Given the description of an element on the screen output the (x, y) to click on. 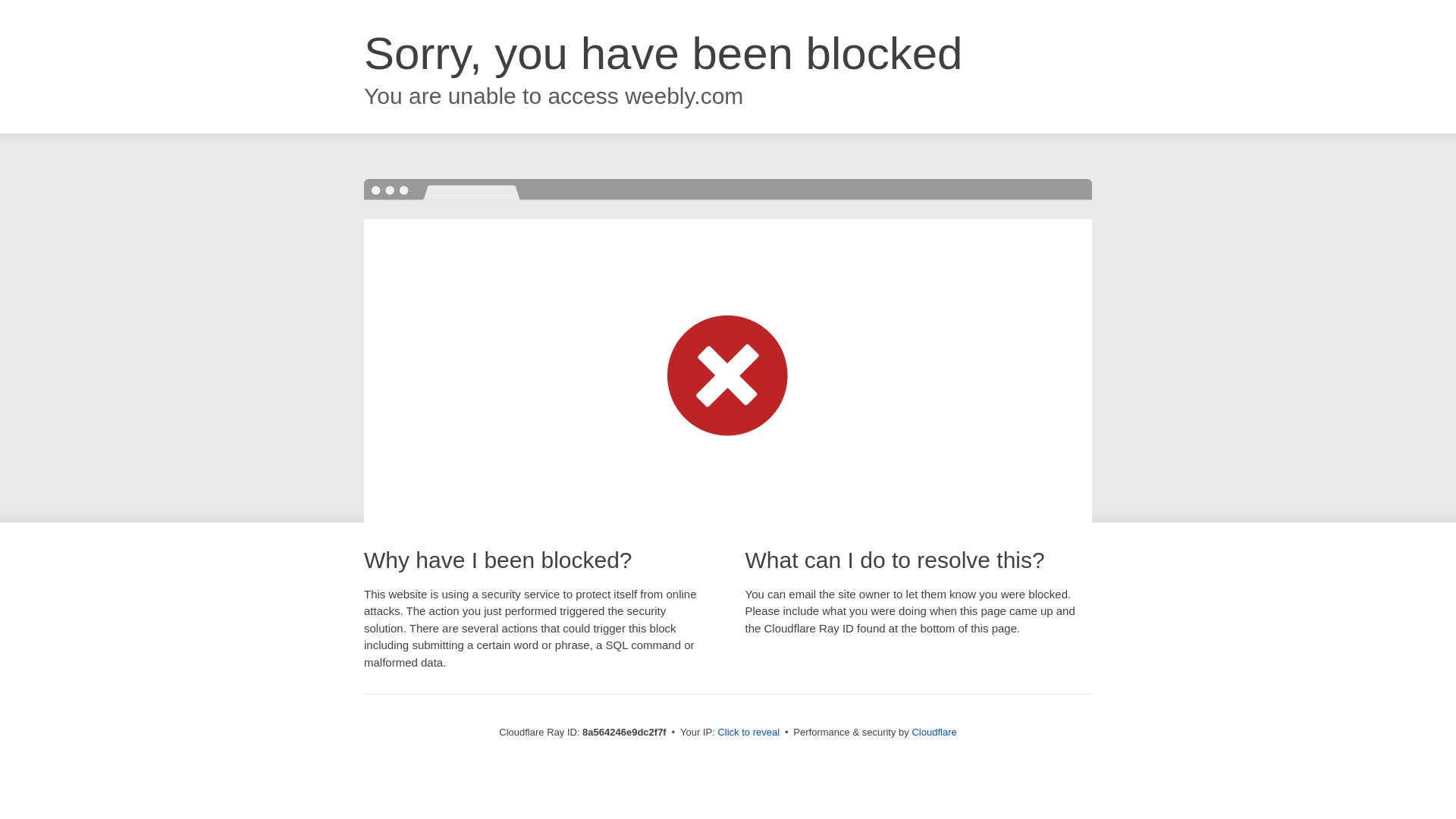
Cloudflare (933, 731)
Click to reveal (747, 732)
